Given the description of an element on the screen output the (x, y) to click on. 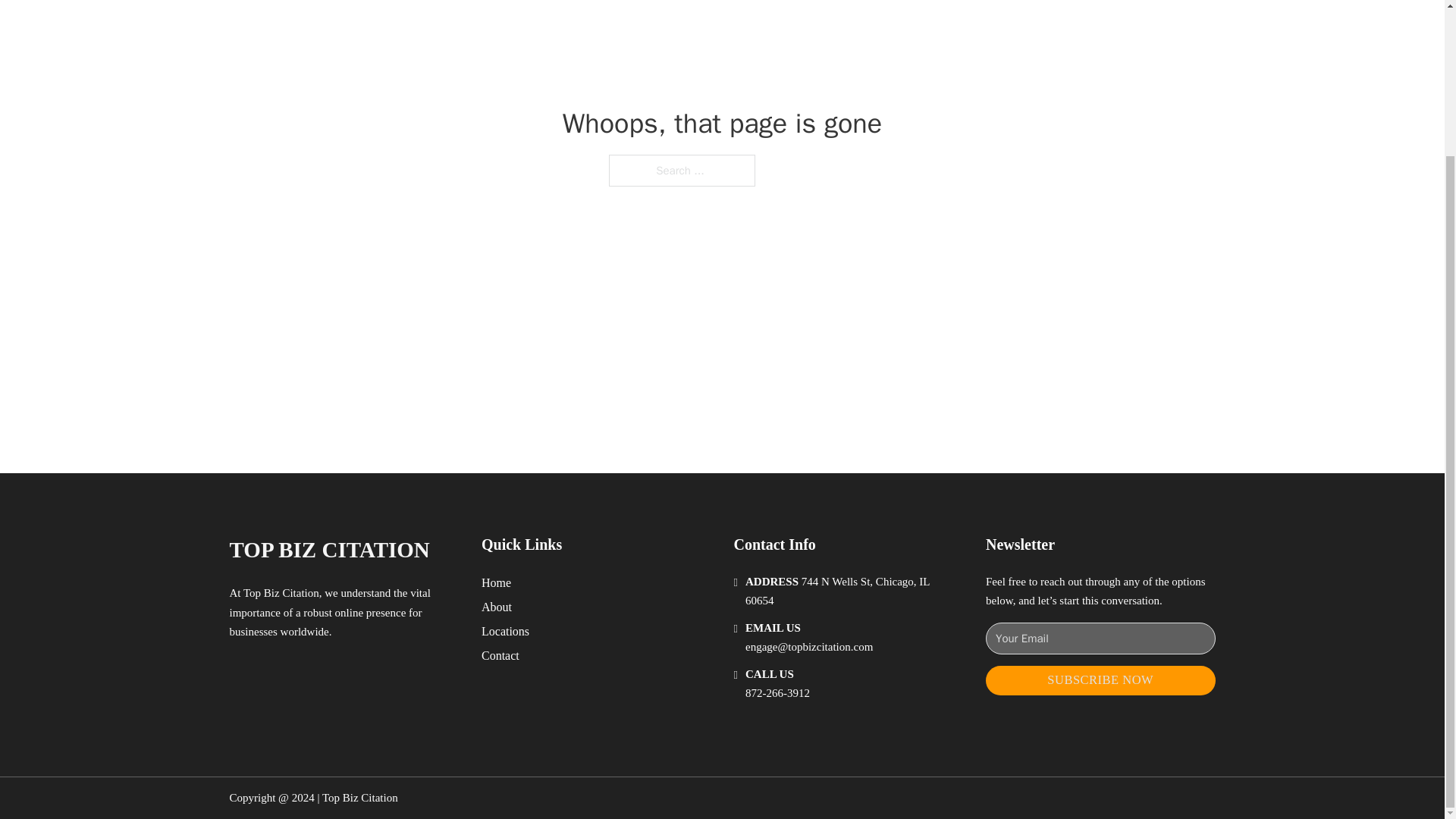
SUBSCRIBE NOW (1100, 680)
TOP BIZ CITATION (328, 549)
872-266-3912 (777, 693)
Home (496, 582)
Contact (500, 655)
Locations (505, 630)
About (496, 607)
